Given the description of an element on the screen output the (x, y) to click on. 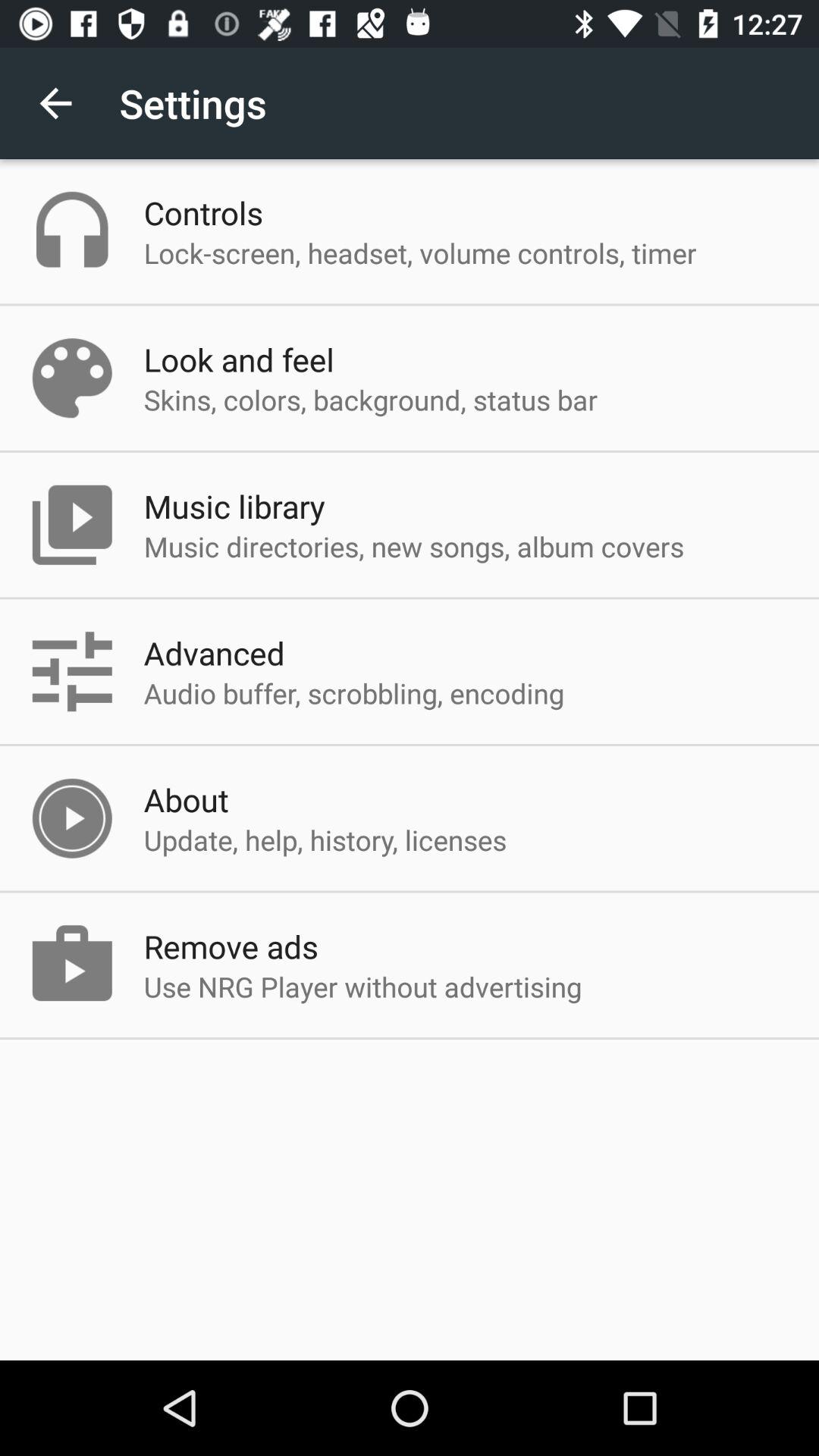
turn off the app next to the settings icon (55, 103)
